Given the description of an element on the screen output the (x, y) to click on. 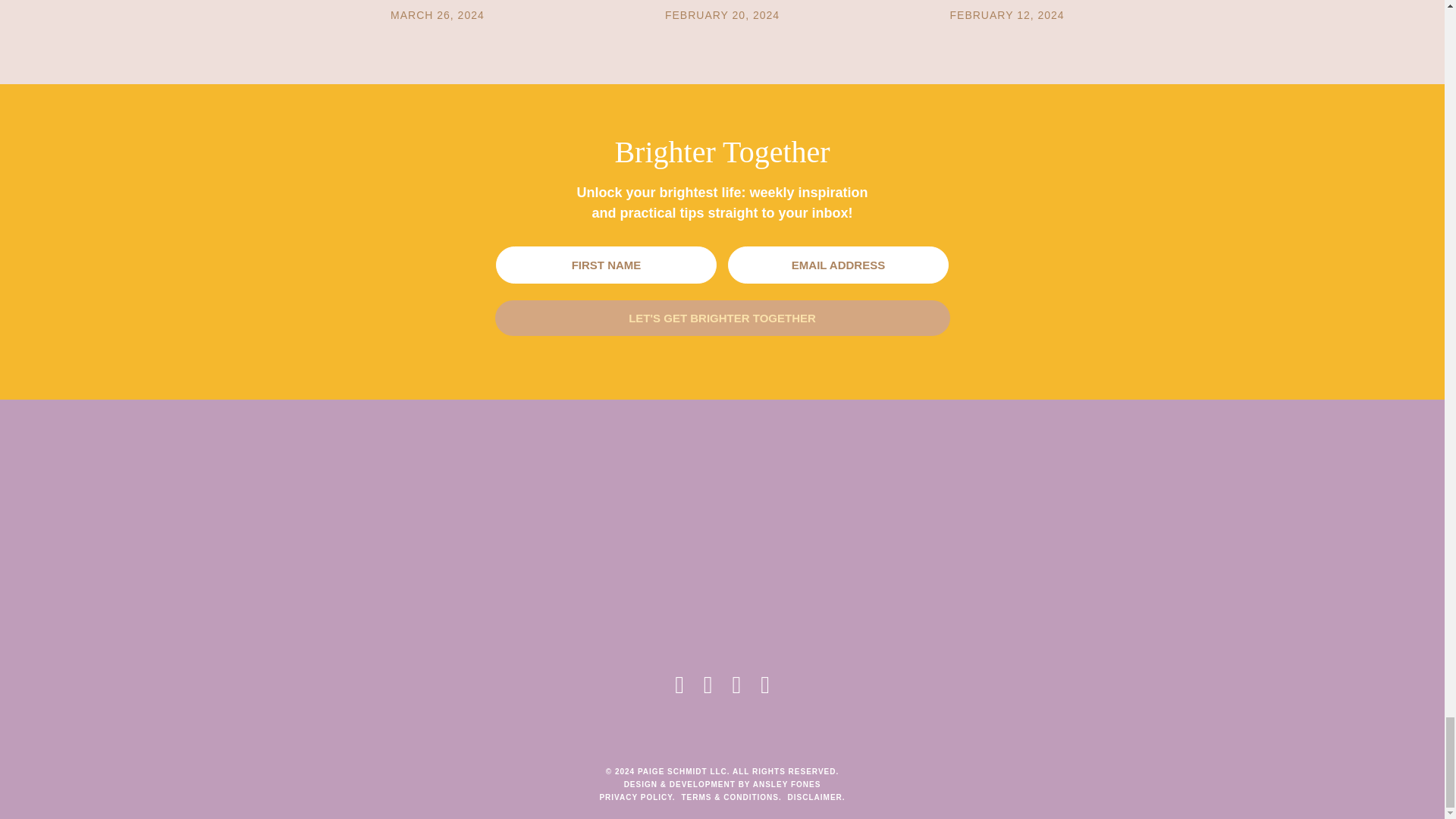
Let's Get Brighter Together (722, 317)
